Given the description of an element on the screen output the (x, y) to click on. 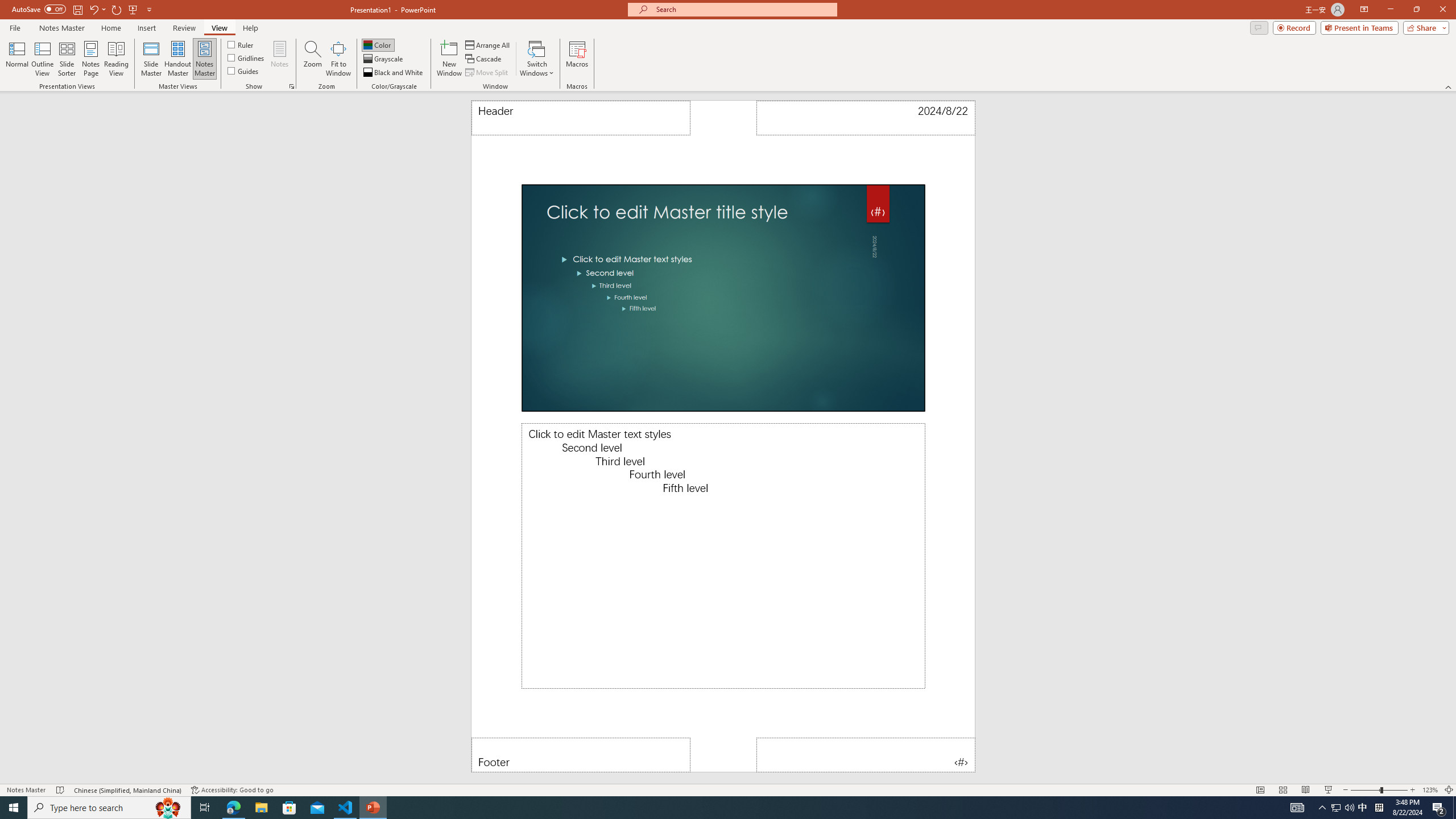
Handout Master (177, 58)
Header (580, 117)
Grid Settings... (291, 85)
Date (866, 117)
